Given the description of an element on the screen output the (x, y) to click on. 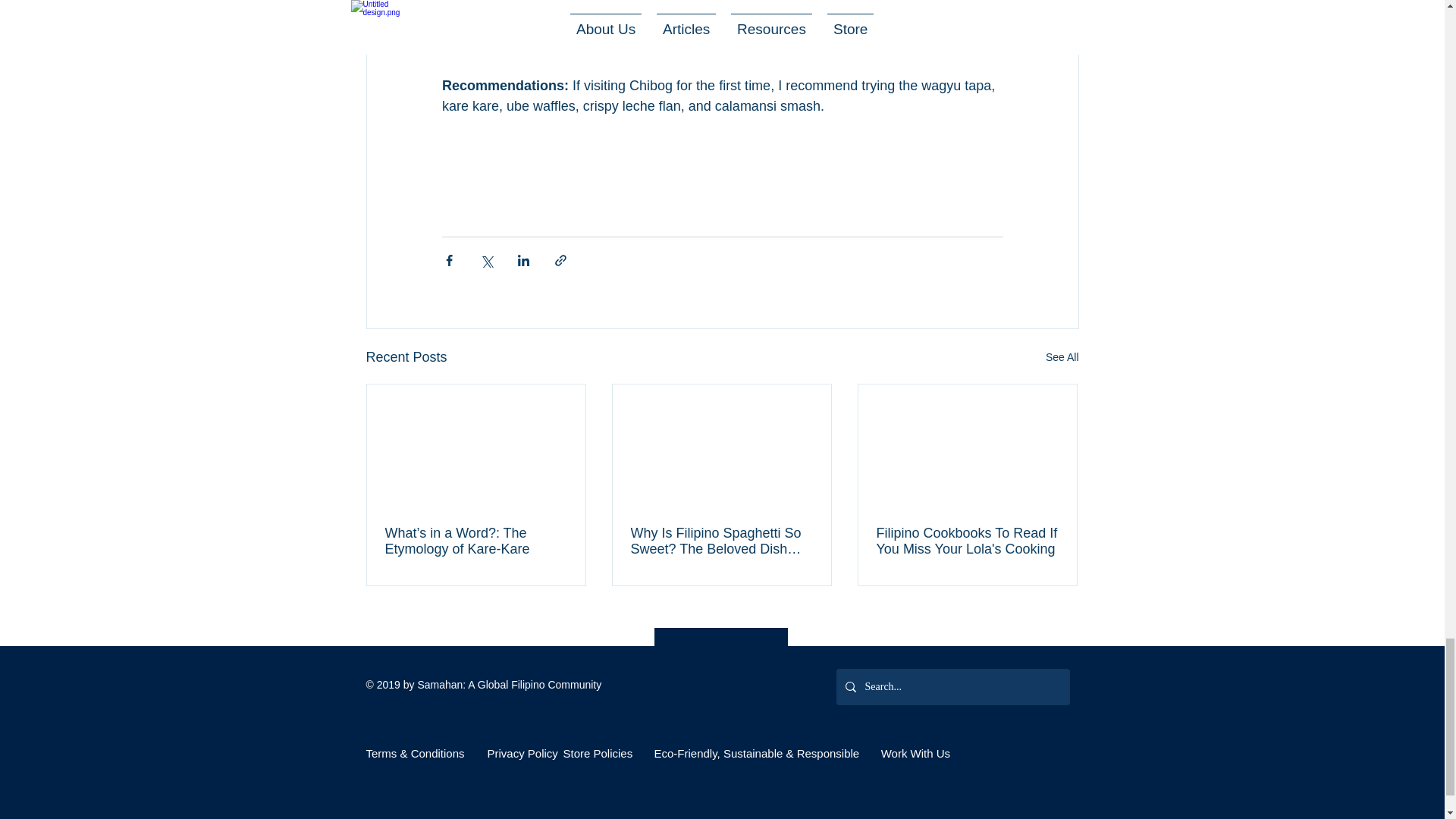
Filipino Cookbooks To Read If You Miss Your Lola's Cooking (967, 541)
See All (1061, 357)
Store Policies (596, 753)
 Work With Us (913, 753)
Privacy Policy (521, 753)
